Given the description of an element on the screen output the (x, y) to click on. 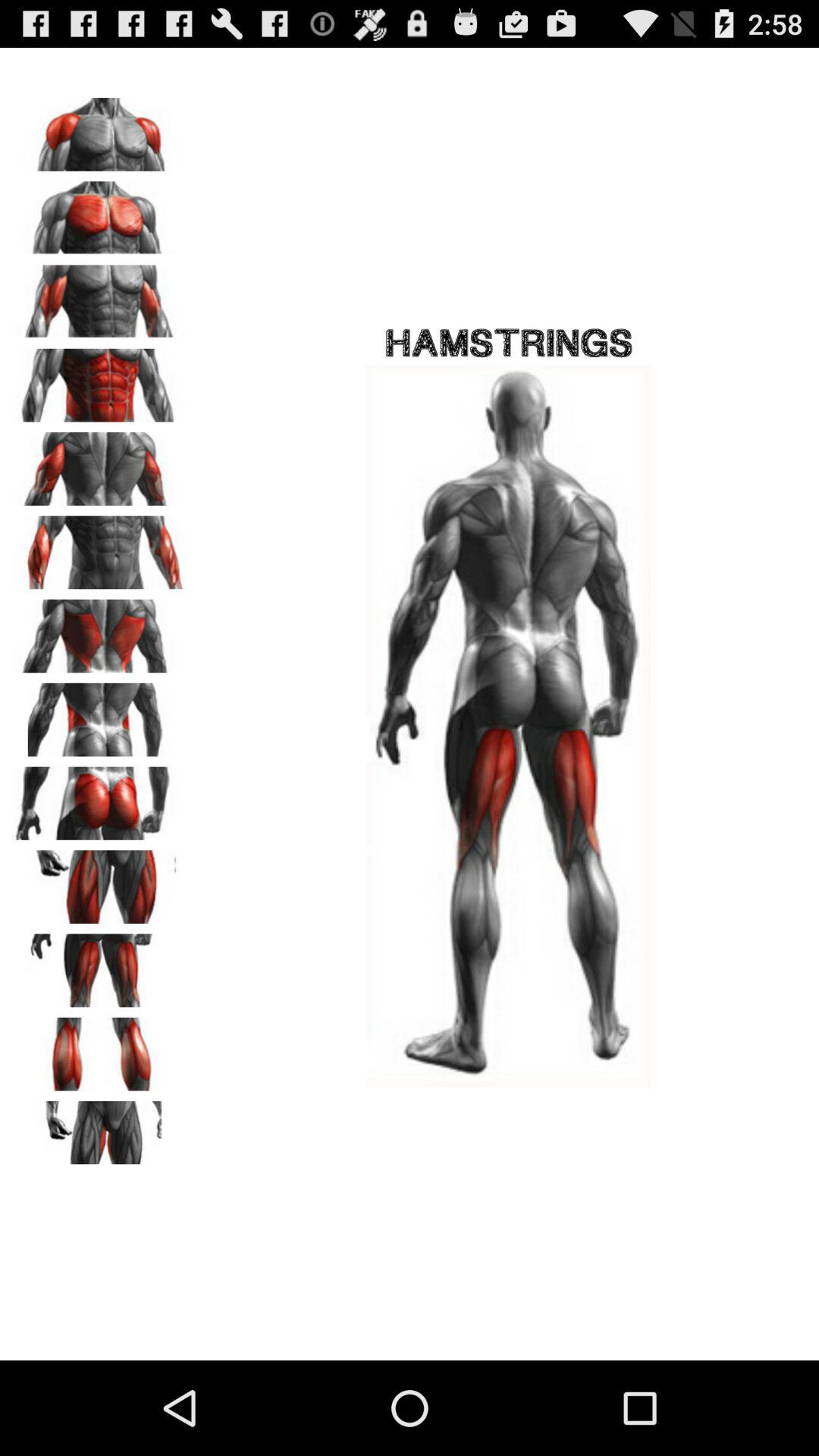
go to this region of body (99, 1132)
